Given the description of an element on the screen output the (x, y) to click on. 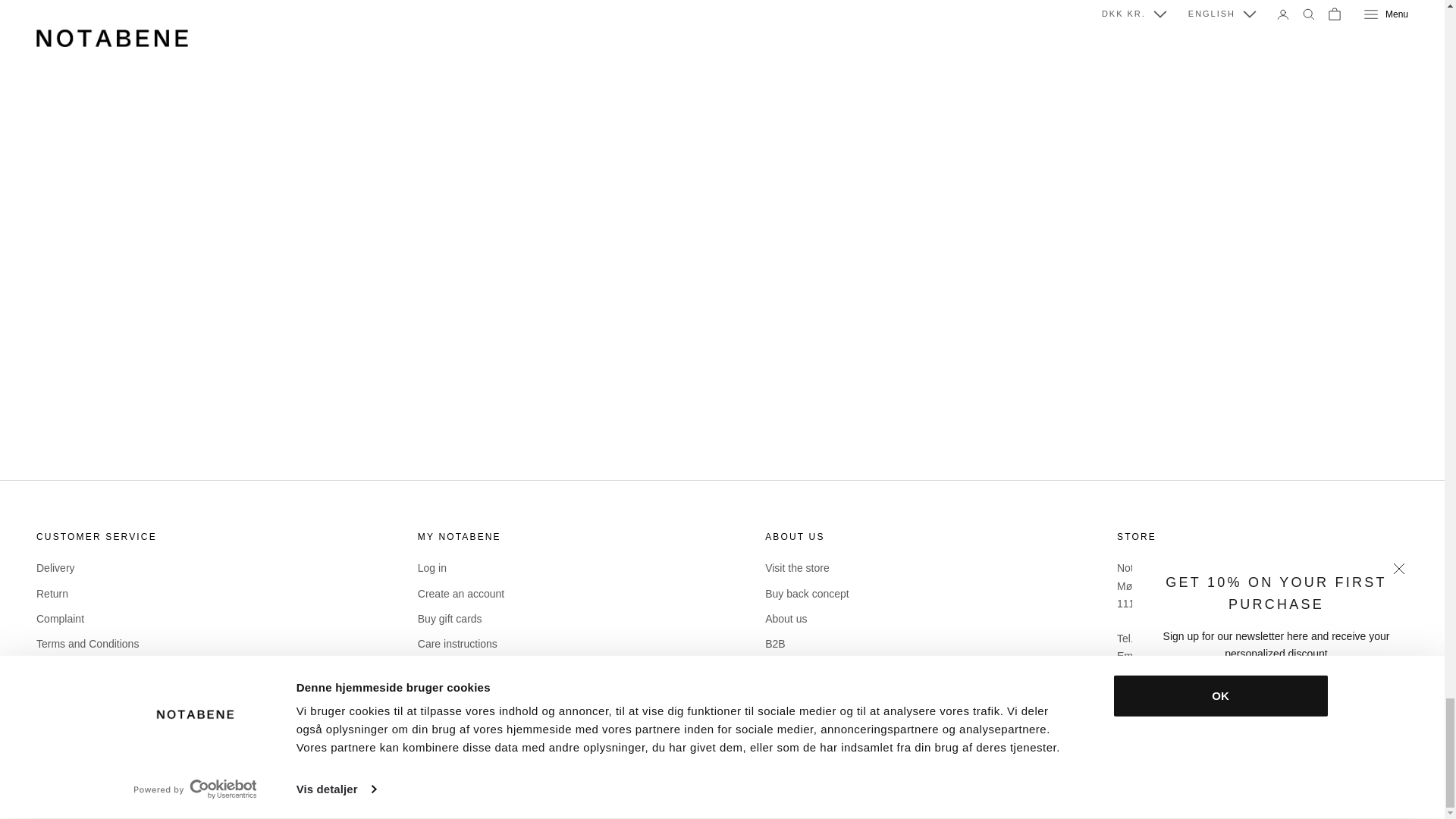
phone: 004533133813 (1178, 638)
